Given the description of an element on the screen output the (x, y) to click on. 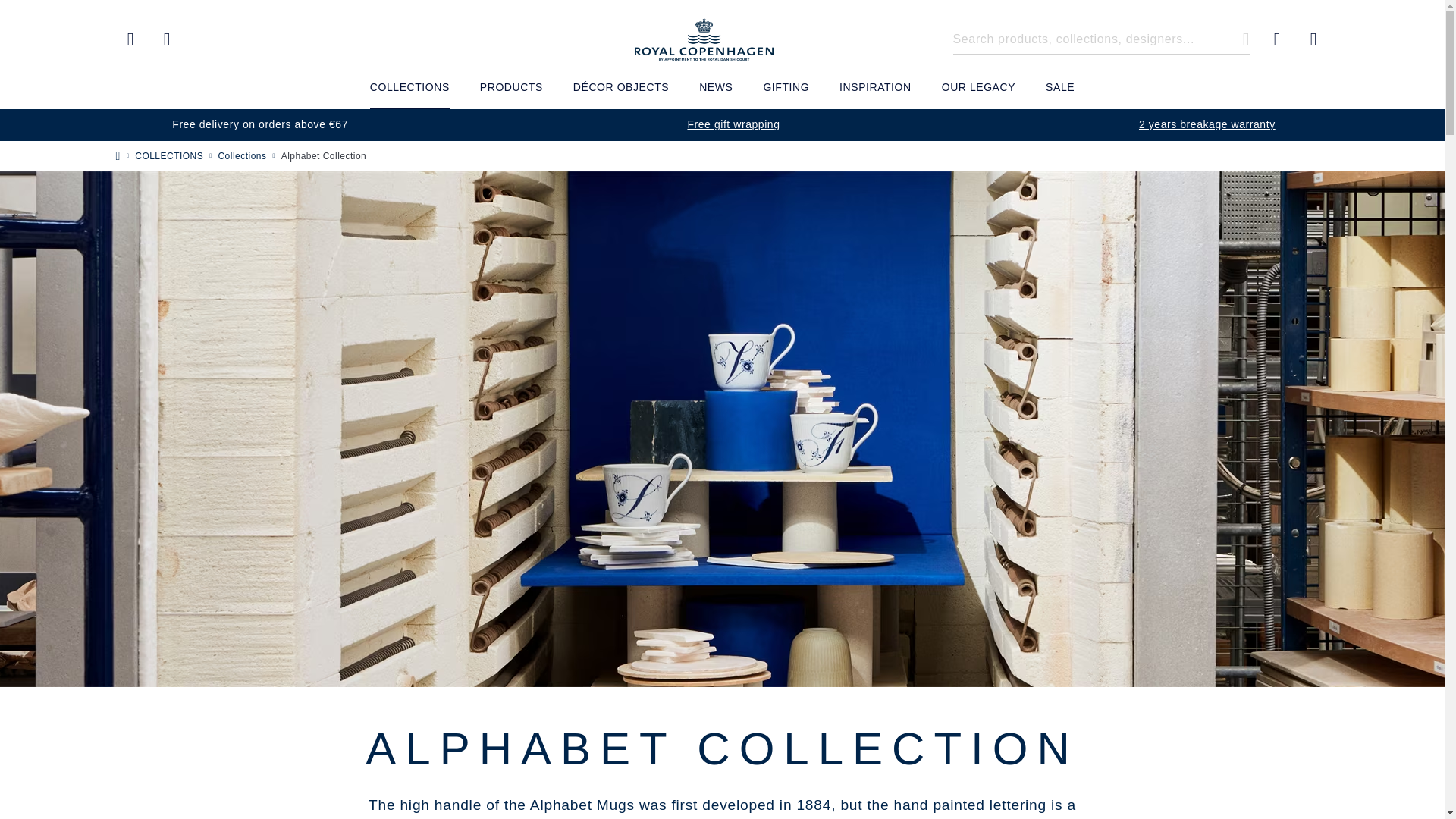
Country selector overlay (130, 39)
Cart (1312, 39)
Login (409, 93)
